Given the description of an element on the screen output the (x, y) to click on. 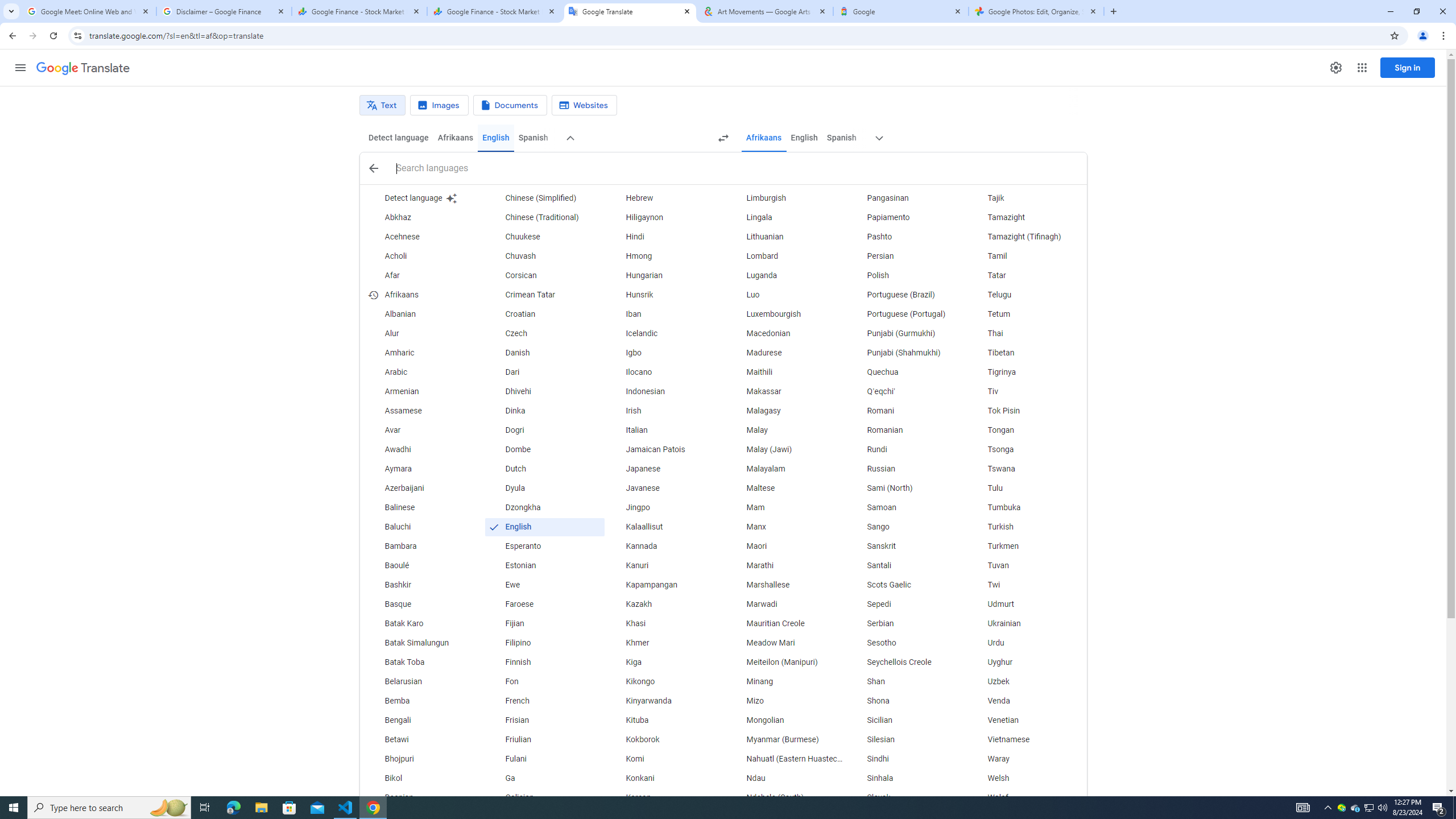
Belarusian (423, 682)
Dinka (544, 411)
Meiteilon (Manipuri) (785, 662)
Filipino (544, 642)
Indonesian (665, 391)
Hebrew (665, 198)
Sindhi (905, 759)
Abkhaz (423, 217)
Galician (544, 797)
Limburgish (785, 198)
Tamazight (1026, 217)
Papiamento (905, 217)
Kazakh (665, 604)
Azerbaijani (423, 488)
